Given the description of an element on the screen output the (x, y) to click on. 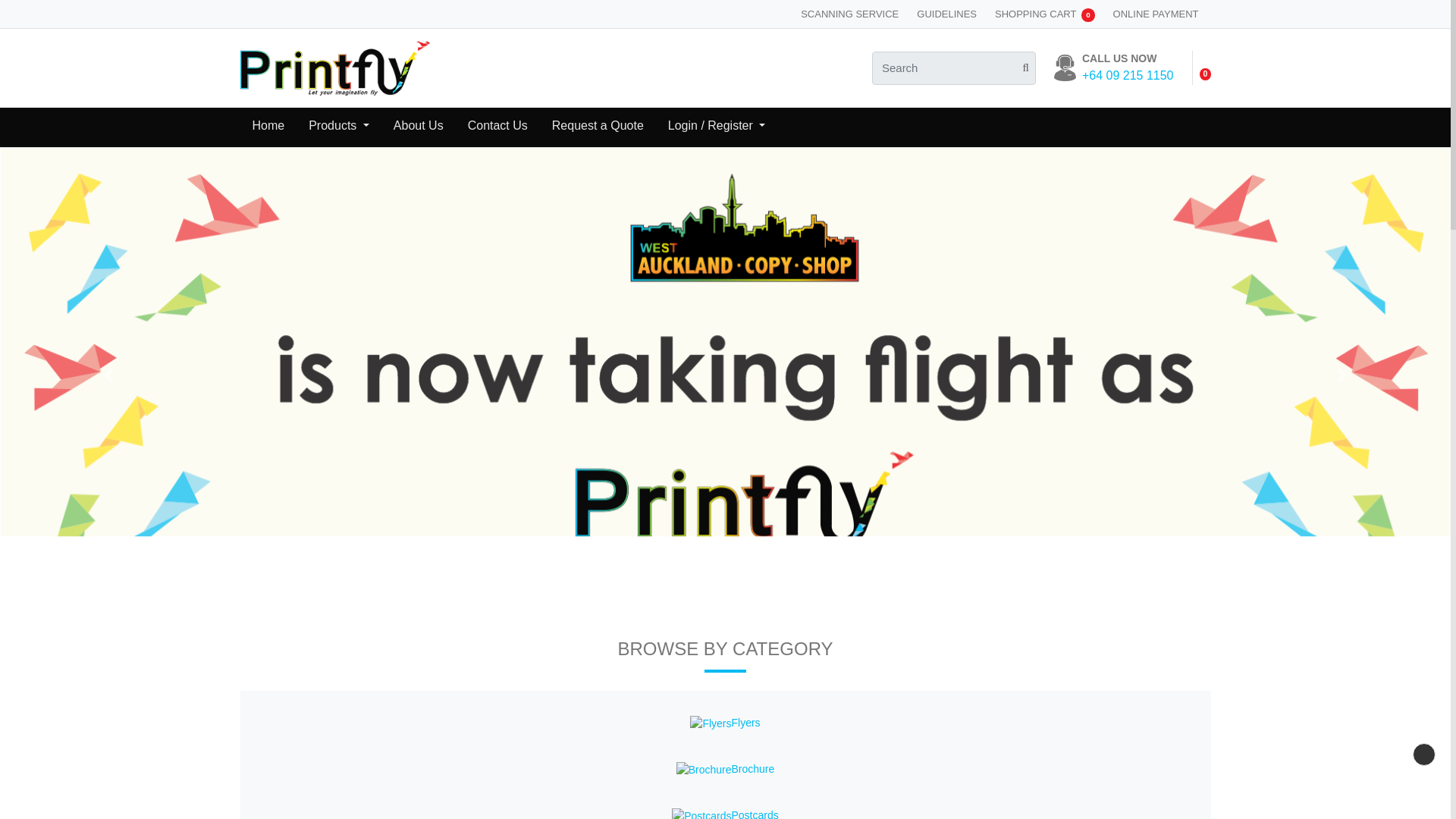
Call Us Now (1127, 67)
Postcards (700, 813)
GUIDELINES (946, 13)
Flyers (710, 723)
Home (268, 127)
ONLINE PAYMENT (1155, 13)
Products (339, 127)
SCANNING SERVICE (849, 13)
Brochure (704, 770)
SHOPPING CART  0 (1044, 13)
